Given the description of an element on the screen output the (x, y) to click on. 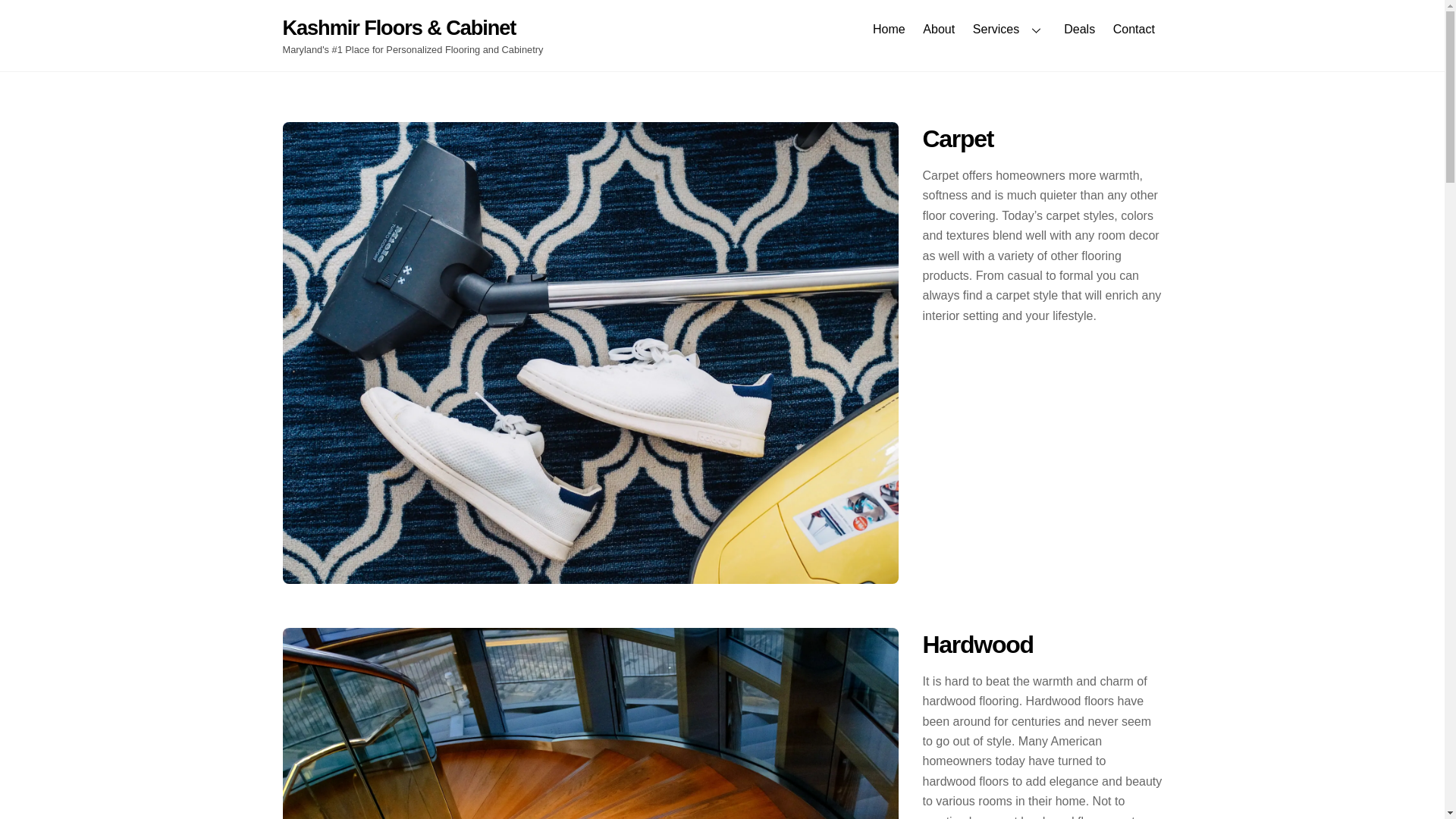
Deals (1079, 29)
Services (1008, 29)
Home (888, 29)
Contact (721, 29)
About (1133, 29)
hardwood (938, 29)
